Given the description of an element on the screen output the (x, y) to click on. 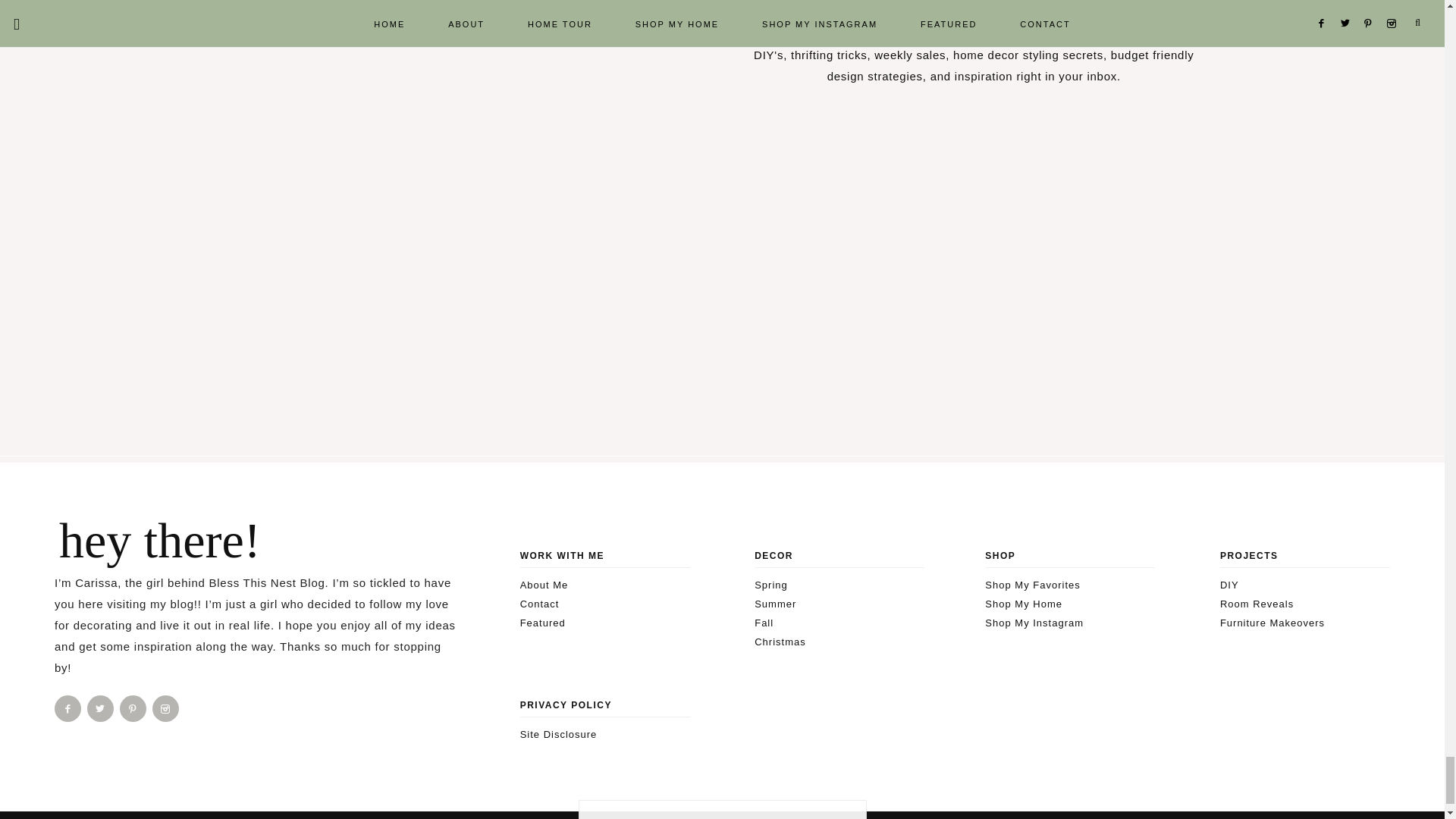
Sign Me Up! (798, 16)
